Given the description of an element on the screen output the (x, y) to click on. 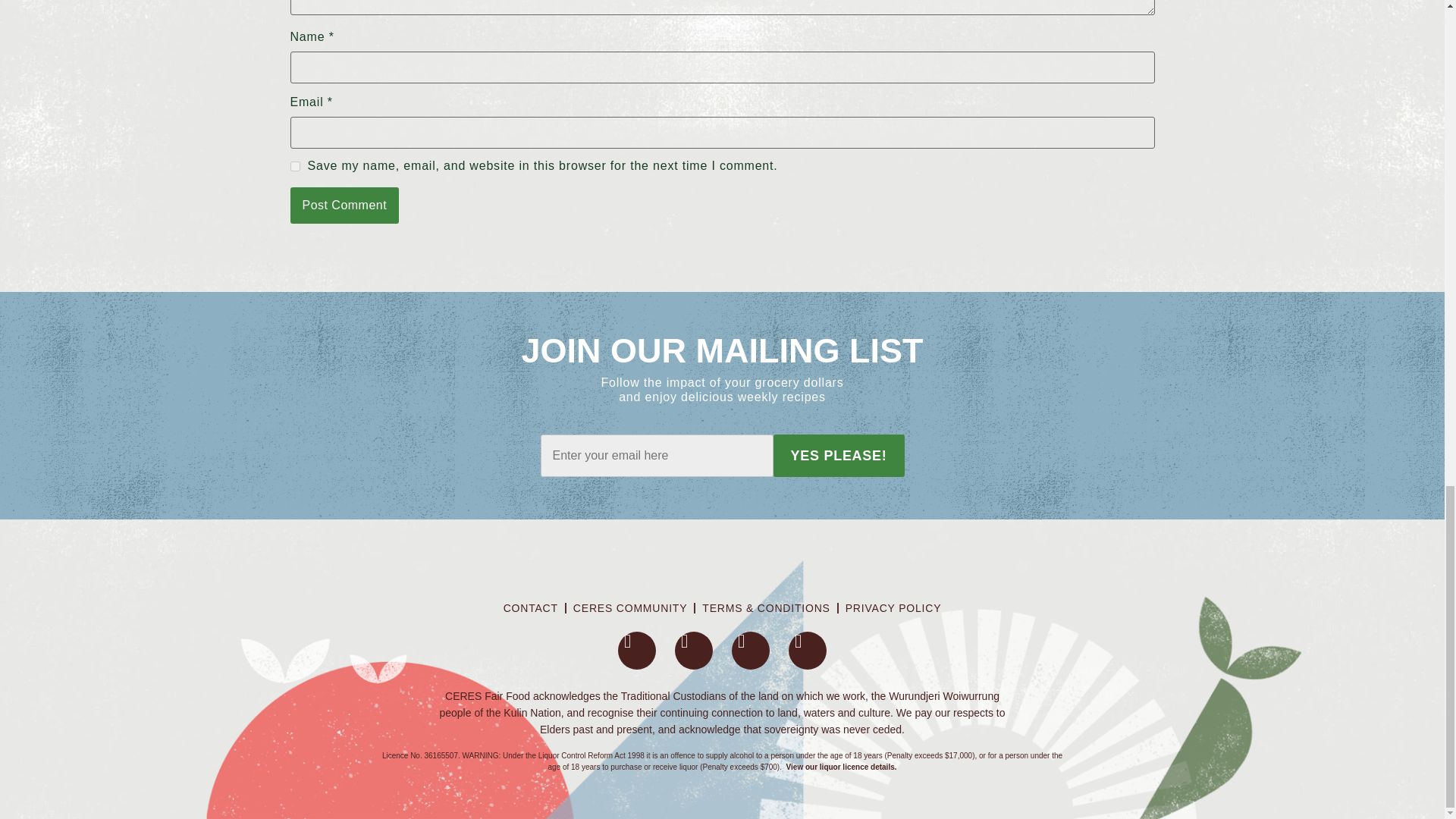
texttab (656, 455)
button (838, 455)
yes (294, 166)
Post Comment (343, 205)
Yes please! (838, 455)
